Given the description of an element on the screen output the (x, y) to click on. 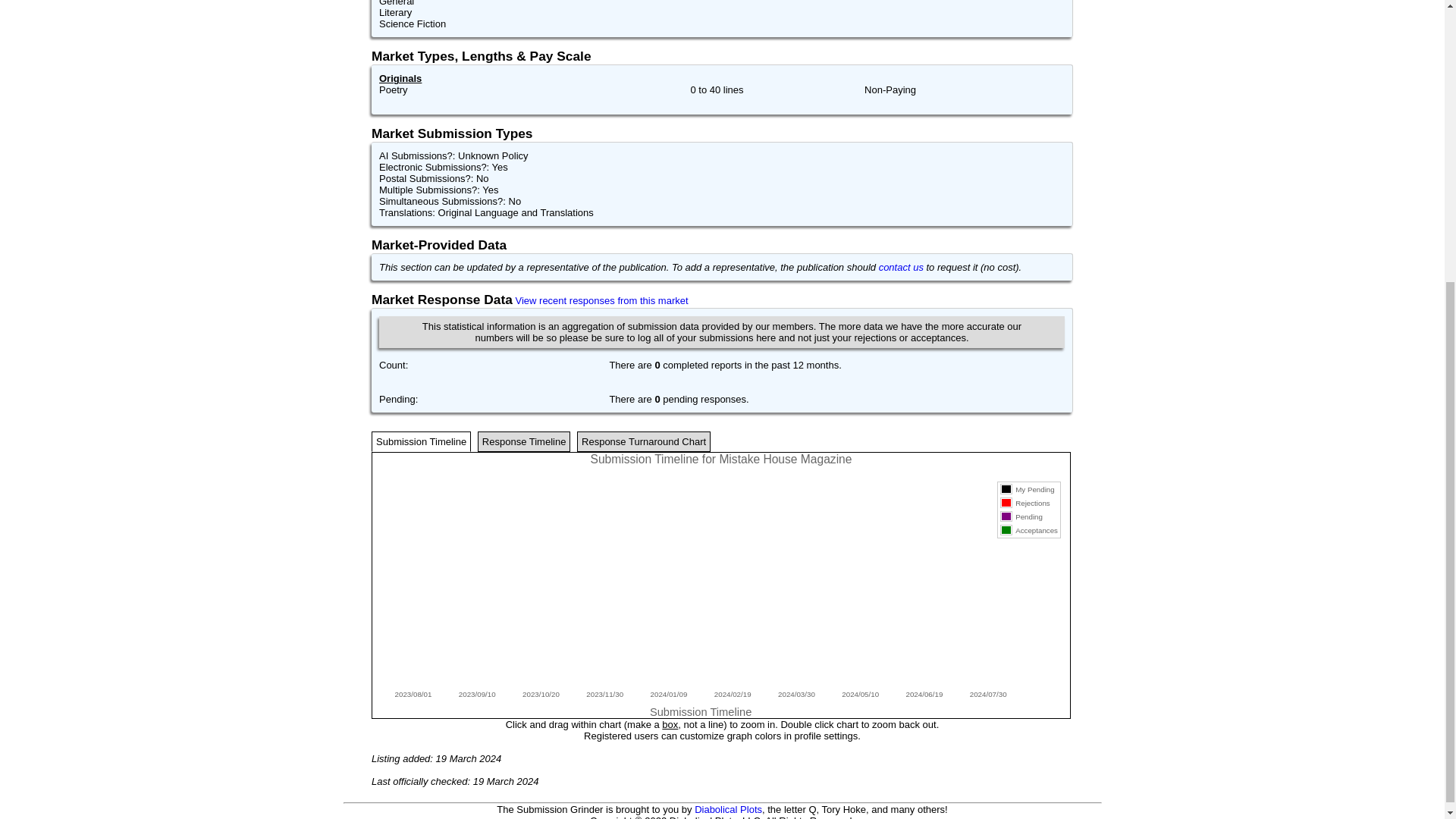
Submission Timeline (420, 441)
Response Timeline (523, 441)
Diabolical Plots (727, 808)
View recent responses from this market (601, 300)
contact us (901, 266)
Response Turnaround Chart (643, 441)
